Given the description of an element on the screen output the (x, y) to click on. 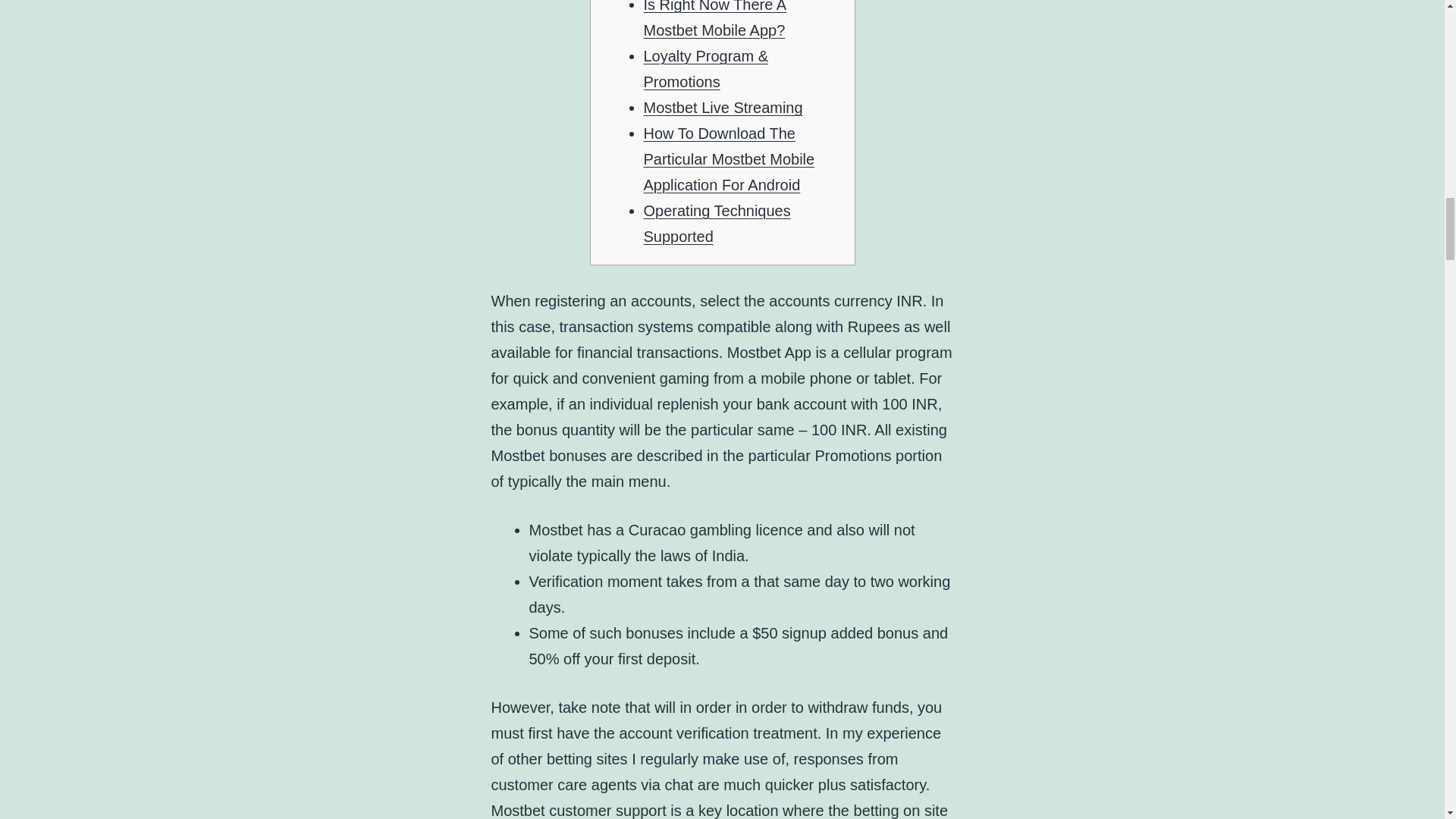
Mostbet Live Streaming (722, 107)
Is Right Now There A Mostbet Mobile App? (714, 19)
Operating Techniques Supported (716, 223)
